Given the description of an element on the screen output the (x, y) to click on. 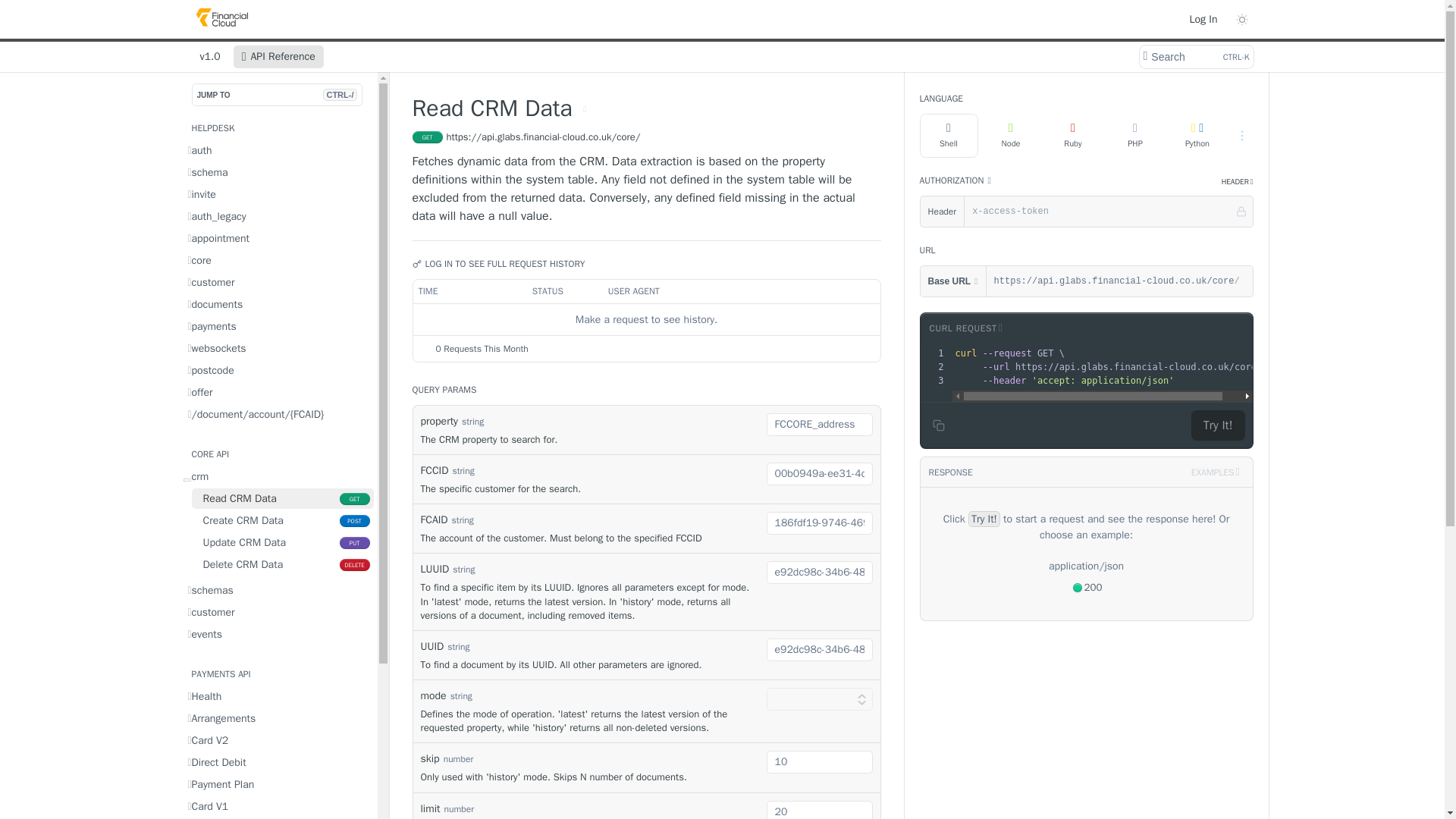
Toggle library (965, 328)
API Reference (277, 56)
Log In (1202, 18)
schema (277, 172)
invite (277, 194)
auth (277, 150)
